Given the description of an element on the screen output the (x, y) to click on. 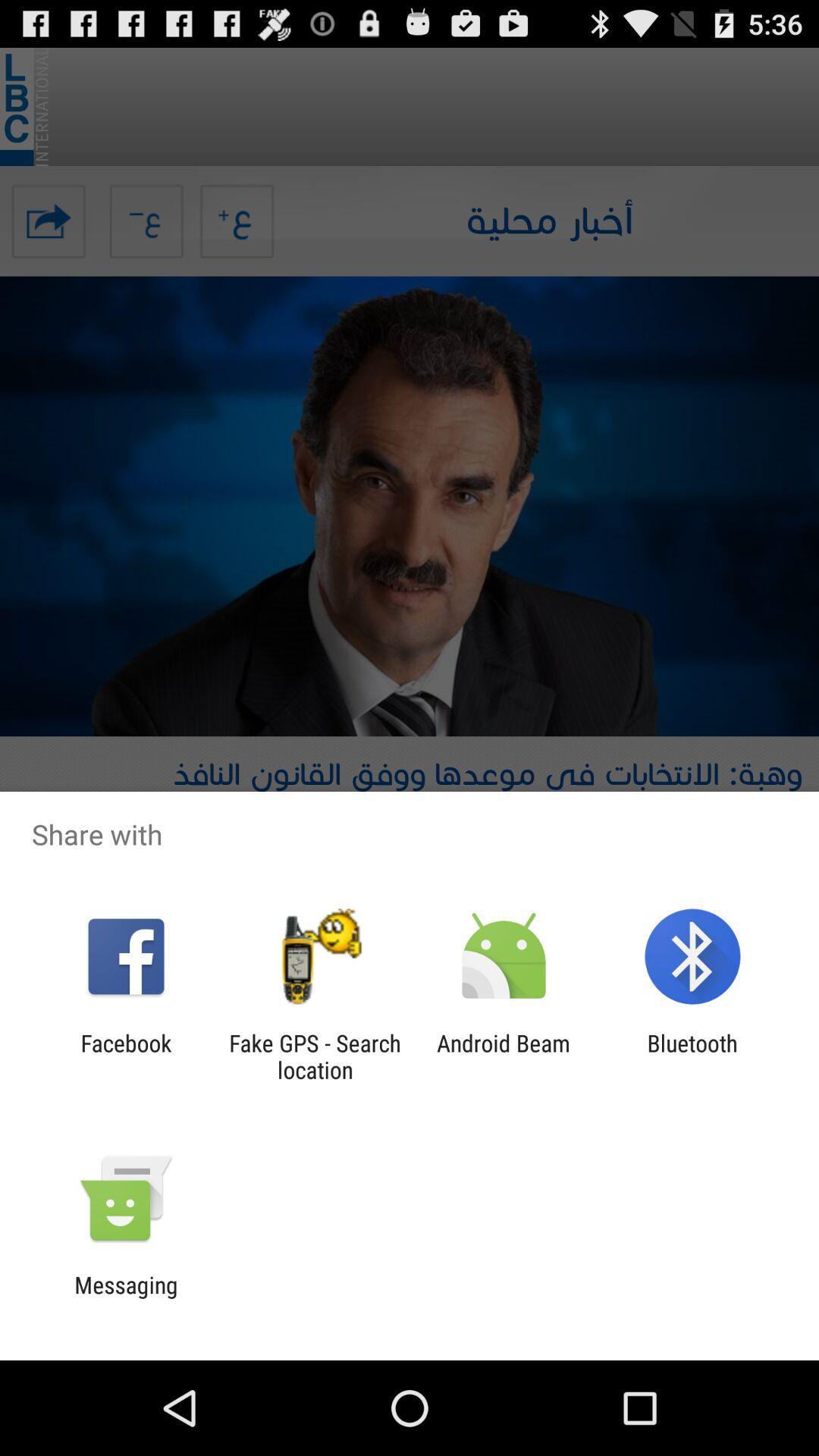
open the item to the right of the facebook icon (314, 1056)
